Given the description of an element on the screen output the (x, y) to click on. 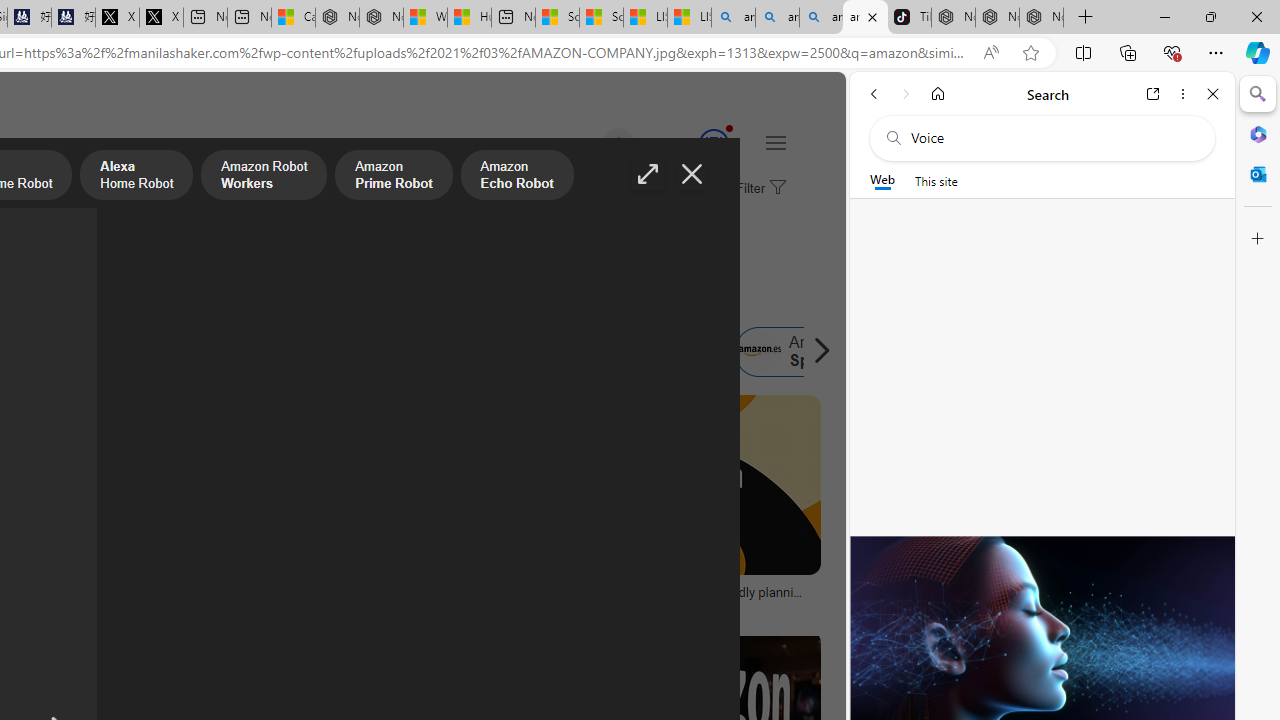
Amazon Prime Membership (128, 351)
Huge shark washes ashore at New York City beach | Watch (469, 17)
theverge.com (685, 606)
TikTok (909, 17)
Search the web (1051, 137)
Class: item col (801, 351)
X (161, 17)
Nordace - Summer Adventures 2024 (381, 17)
downdetector.ae (249, 605)
logopng.com.br (98, 606)
